Given the description of an element on the screen output the (x, y) to click on. 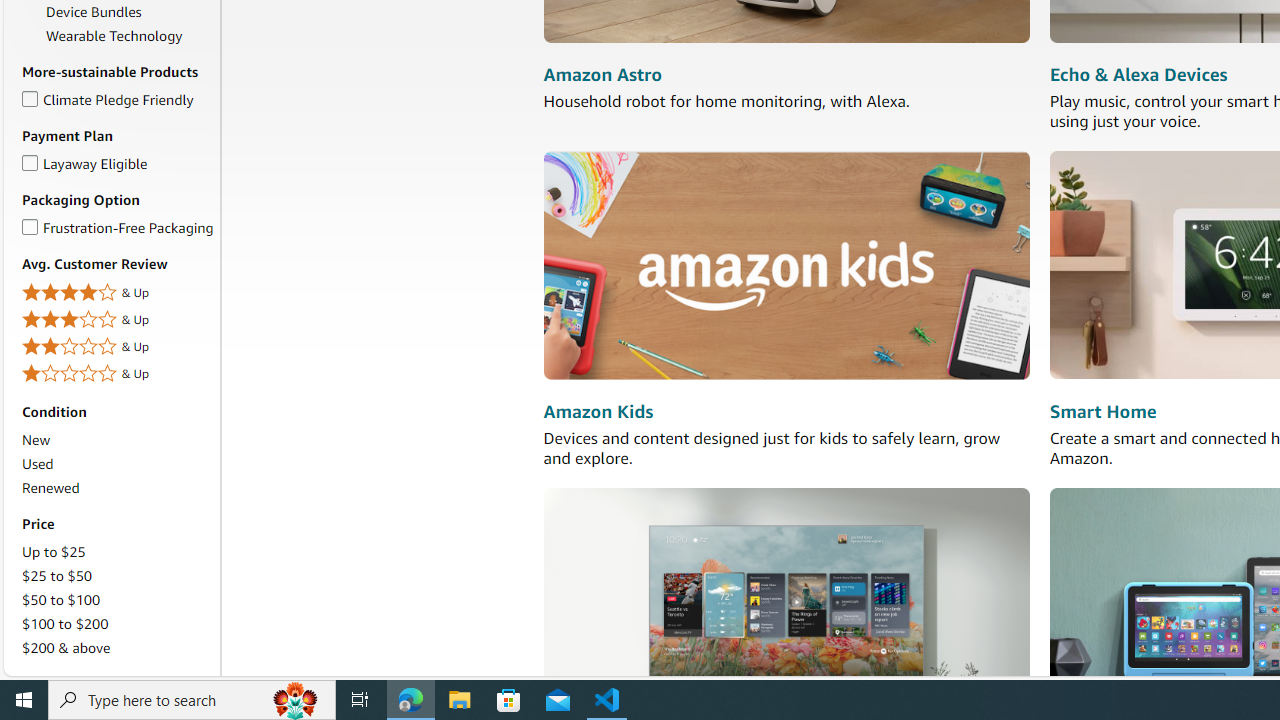
Climate Pledge Friendly (29, 95)
Fire TV devices (786, 600)
2 Stars & Up& Up (117, 347)
$200 & above (117, 647)
Climate Pledge Friendly Climate Pledge Friendly (107, 98)
4 Stars & Up& Up (117, 293)
Renewed (50, 487)
Frustration-Free Packaging Frustration-Free Packaging (117, 227)
$100 to $200 (117, 624)
2 Stars & Up (117, 346)
Smart Home (1103, 411)
Device Bundles (129, 12)
Amazon Kids (598, 411)
Frustration-Free PackagingFrustration-Free Packaging (117, 228)
$50 to $100 (117, 599)
